Given the description of an element on the screen output the (x, y) to click on. 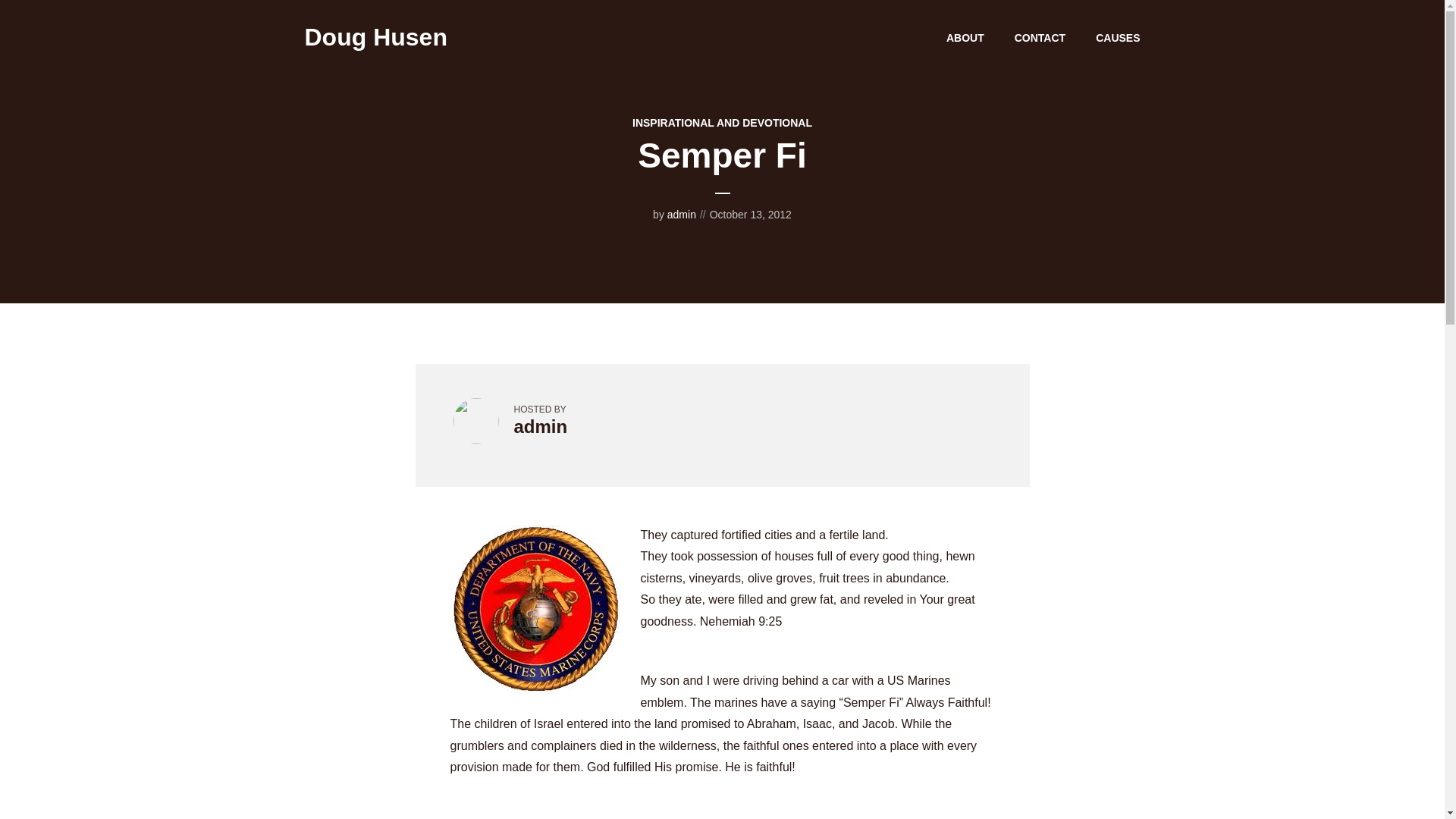
INSPIRATIONAL AND DEVOTIONAL (721, 122)
admin (540, 426)
Doug Husen (375, 36)
CONTACT (1039, 37)
CAUSES (1118, 37)
ABOUT (965, 37)
admin (680, 214)
Semper (535, 608)
